Given the description of an element on the screen output the (x, y) to click on. 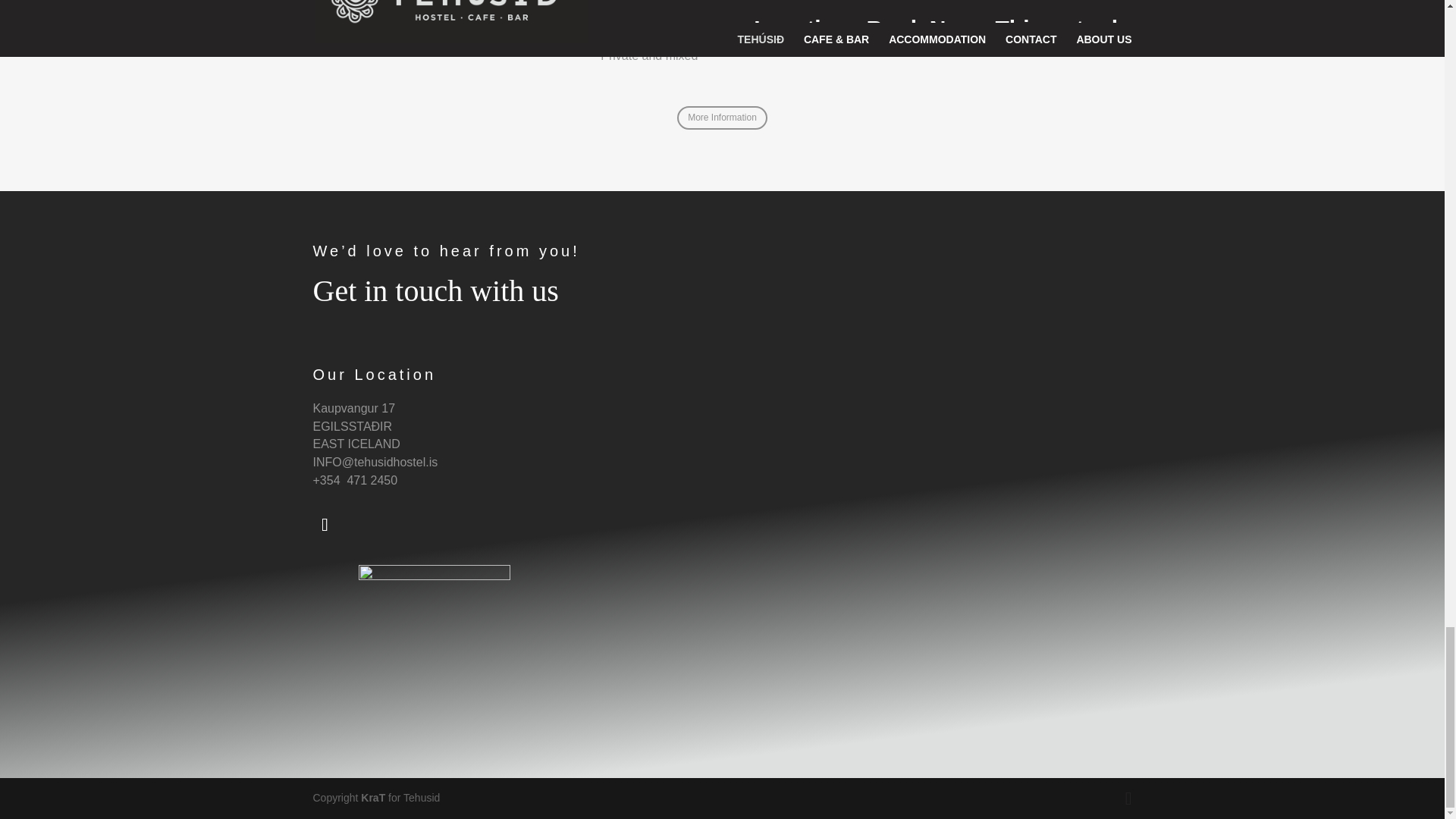
KraT (373, 797)
Follow on Facebook (324, 523)
More Information (722, 118)
